Given the description of an element on the screen output the (x, y) to click on. 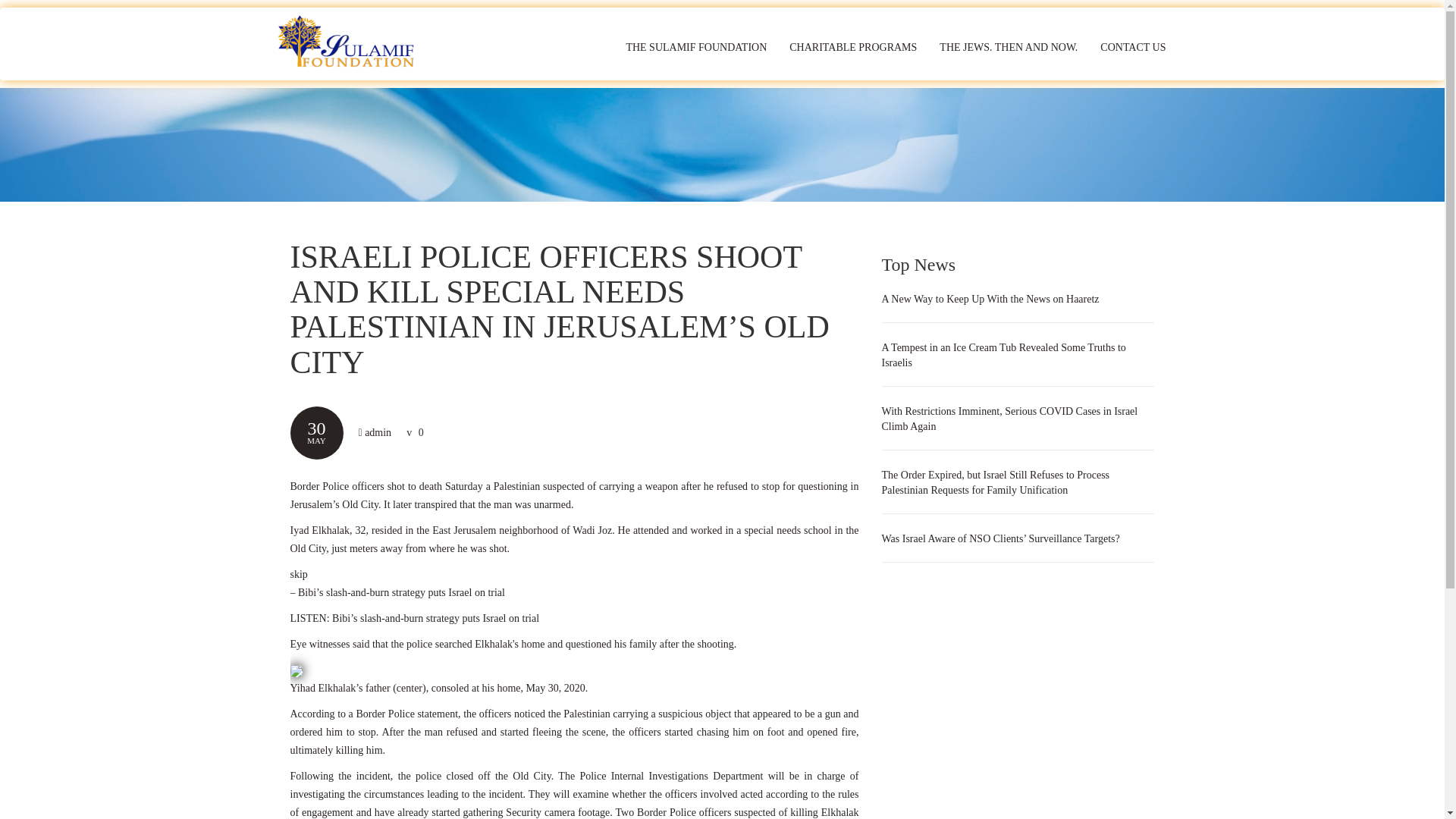
THE SULAMIF FOUNDATION (695, 47)
A New Way to Keep Up With the News on Haaretz (989, 298)
THE JEWS. THEN AND NOW. (1008, 47)
Sulamif foundation (352, 42)
admin (378, 432)
CONTACT US (1132, 47)
